Given the description of an element on the screen output the (x, y) to click on. 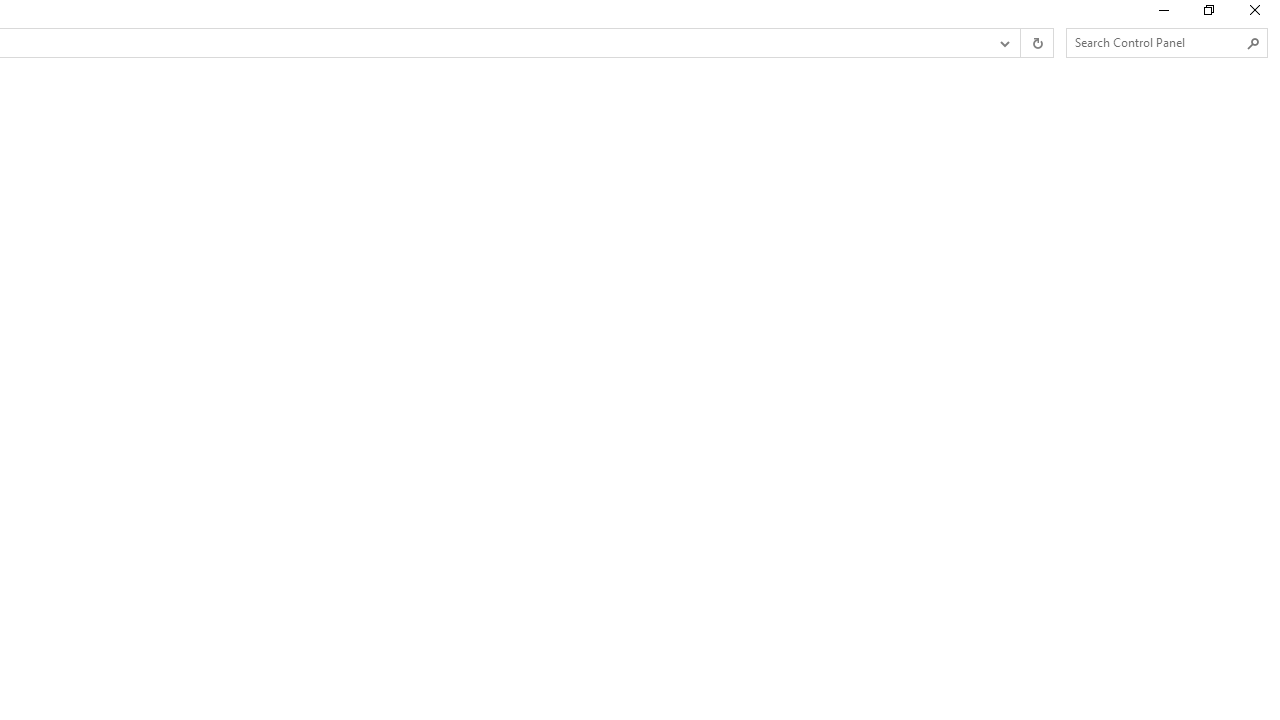
Previous Locations (1003, 43)
Restore (1208, 14)
Refresh "System and Security" (F5) (1036, 43)
Search Box (1156, 42)
Search (1253, 43)
Minimize (1162, 14)
Address band toolbar (1019, 43)
